Given the description of an element on the screen output the (x, y) to click on. 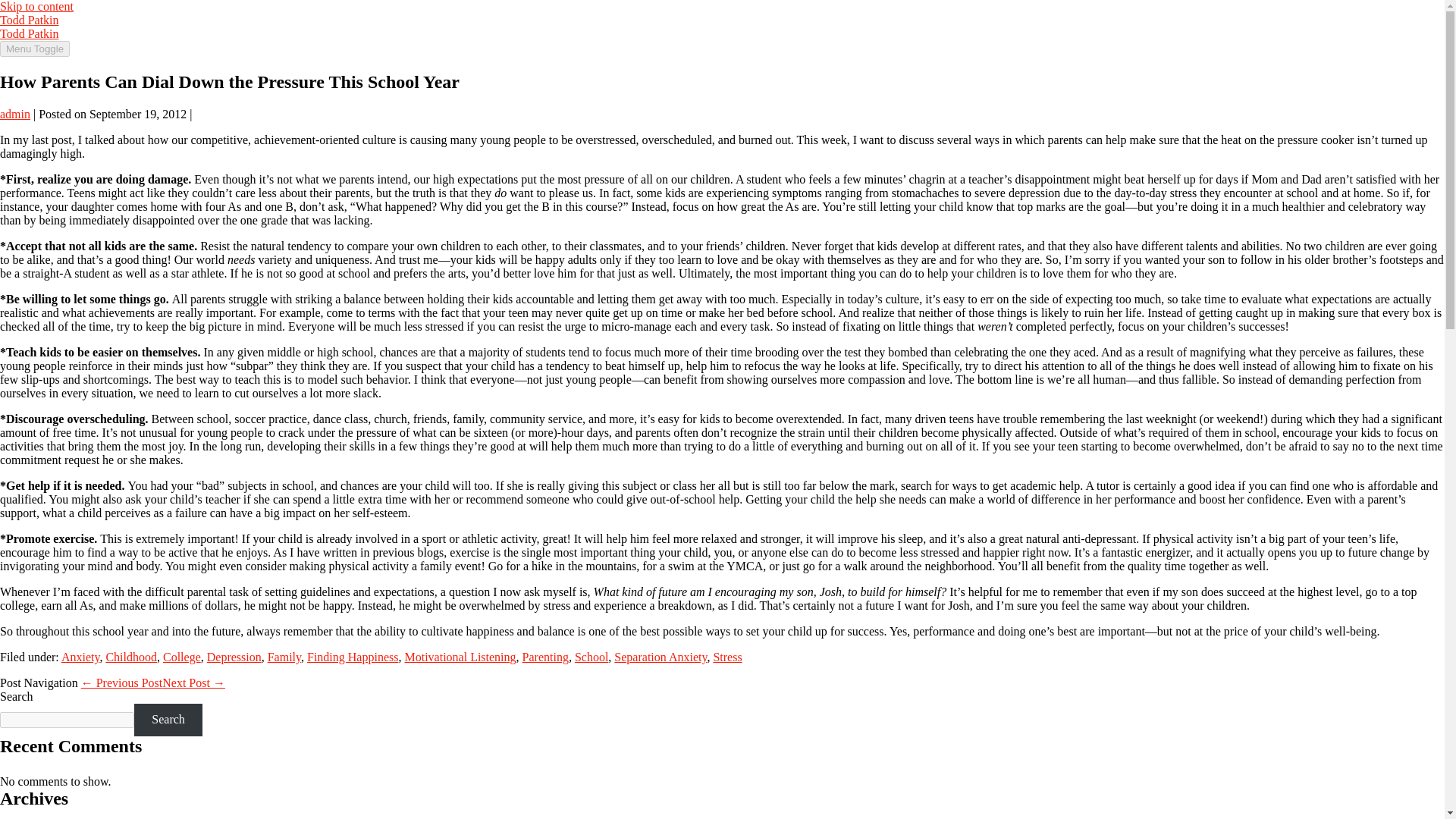
Finding Happiness (352, 656)
View all posts by admin (15, 113)
School (591, 656)
Skip to content (37, 6)
Depression (234, 656)
Parenting (545, 656)
Menu Toggle (34, 48)
Skip to content (37, 6)
Todd Patkin (29, 33)
Separation Anxiety (660, 656)
Childhood (130, 656)
Stress (727, 656)
admin (15, 113)
Motivational Listening (459, 656)
College (181, 656)
